Given the description of an element on the screen output the (x, y) to click on. 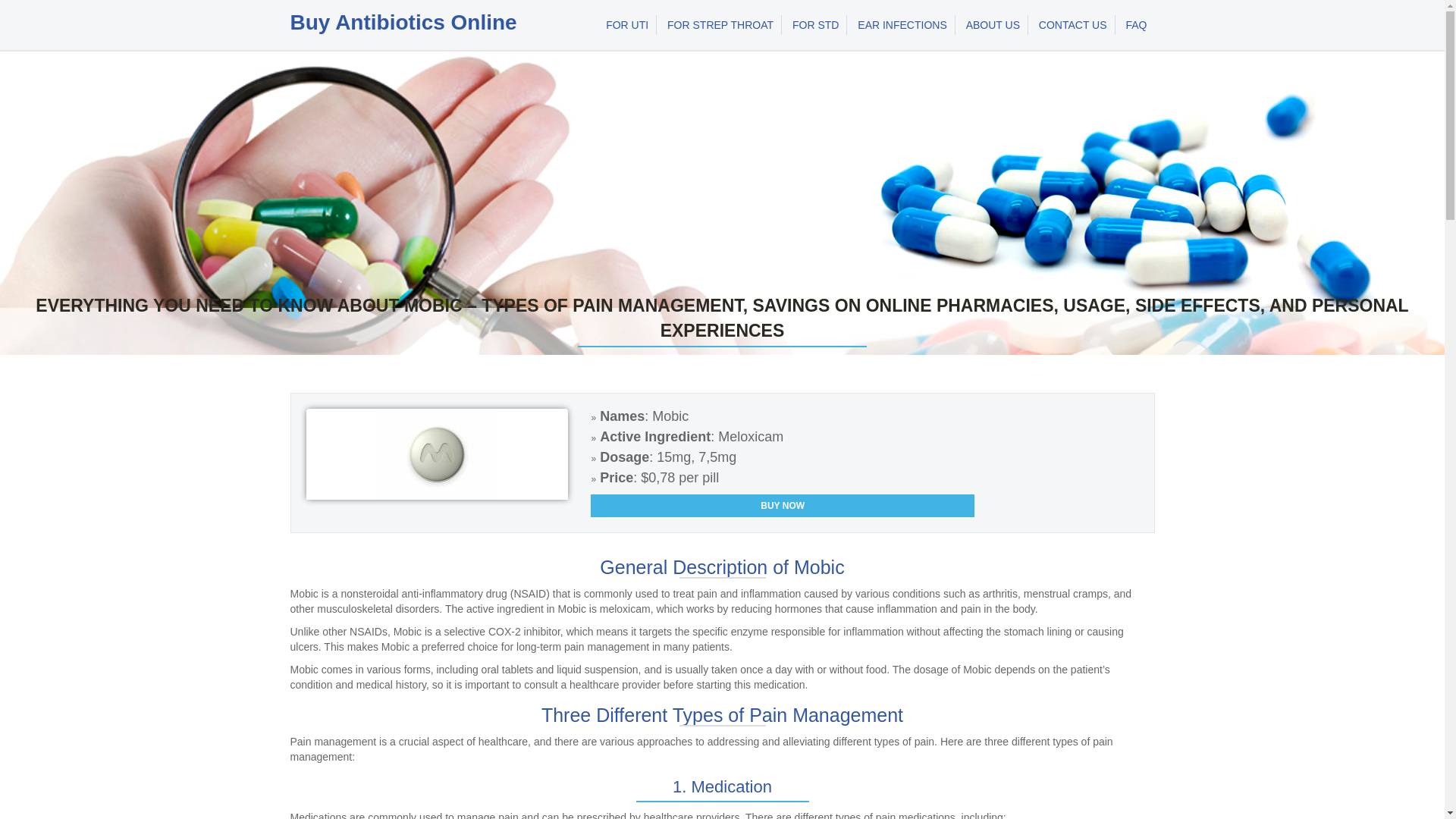
BUY NOW (782, 505)
Buy Now (782, 505)
FOR STREP THROAT (720, 25)
FAQ (1136, 25)
EAR INFECTIONS (902, 25)
FOR STD (815, 25)
ABOUT US (992, 25)
Buy Antibiotics Online (402, 22)
CONTACT US (1072, 25)
FOR UTI (627, 25)
